Given the description of an element on the screen output the (x, y) to click on. 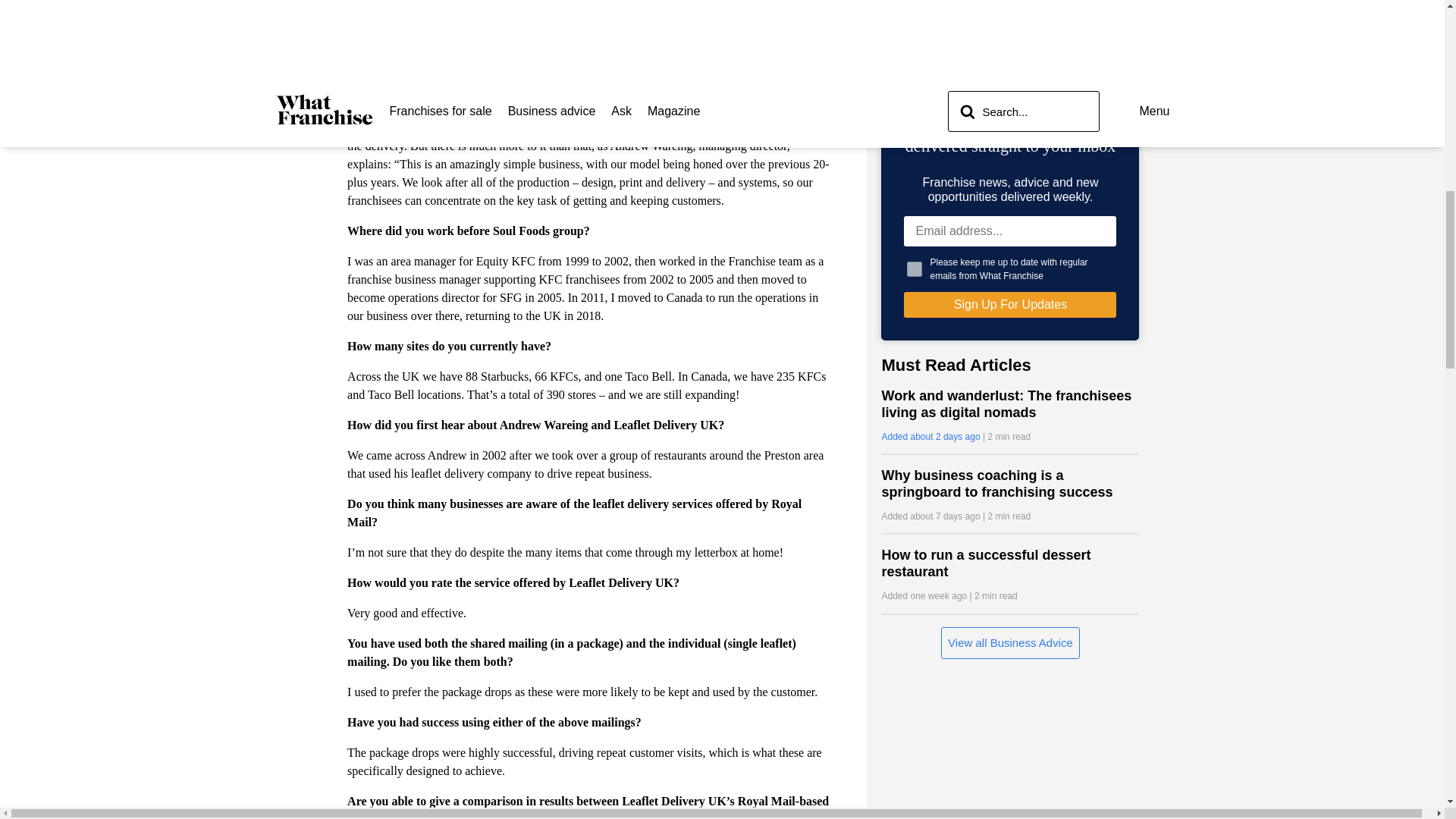
Leaflet Delivery UK (396, 127)
Sign Up For Updates (1010, 304)
